Given the description of an element on the screen output the (x, y) to click on. 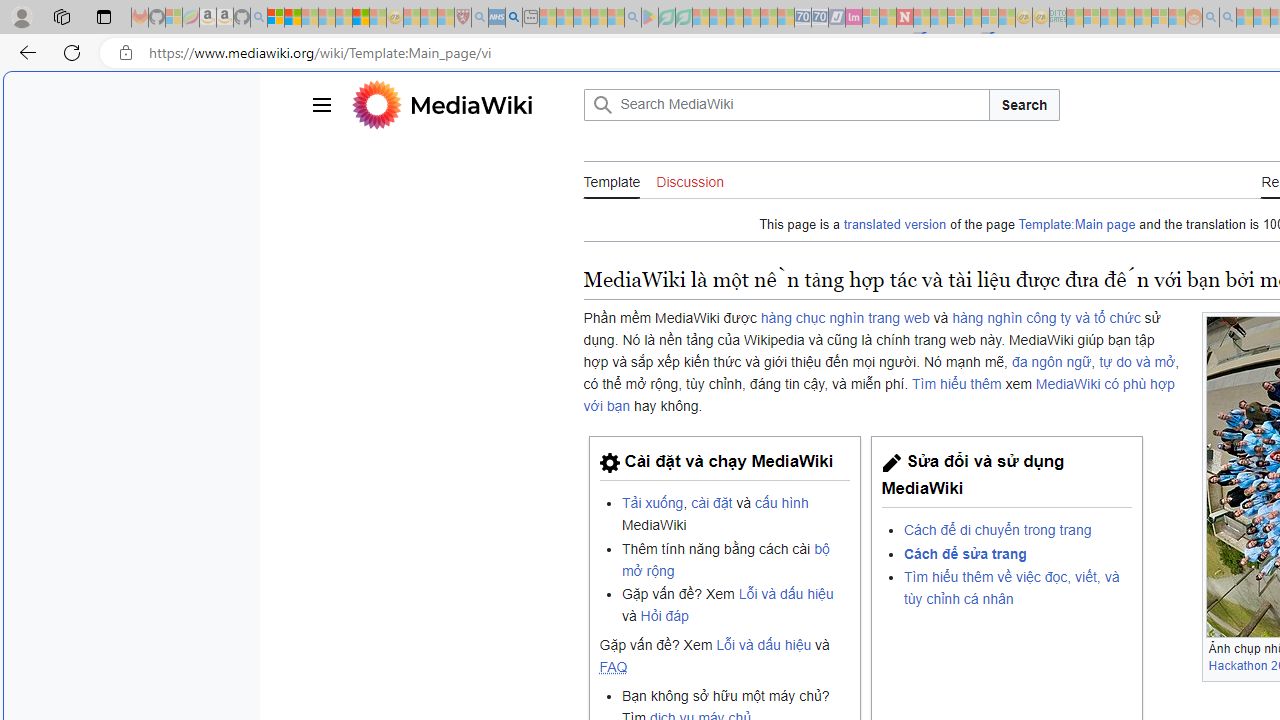
Main menu (320, 104)
Template (611, 180)
translated version (895, 224)
MediaWiki (471, 104)
Discussion (689, 181)
